Given the description of an element on the screen output the (x, y) to click on. 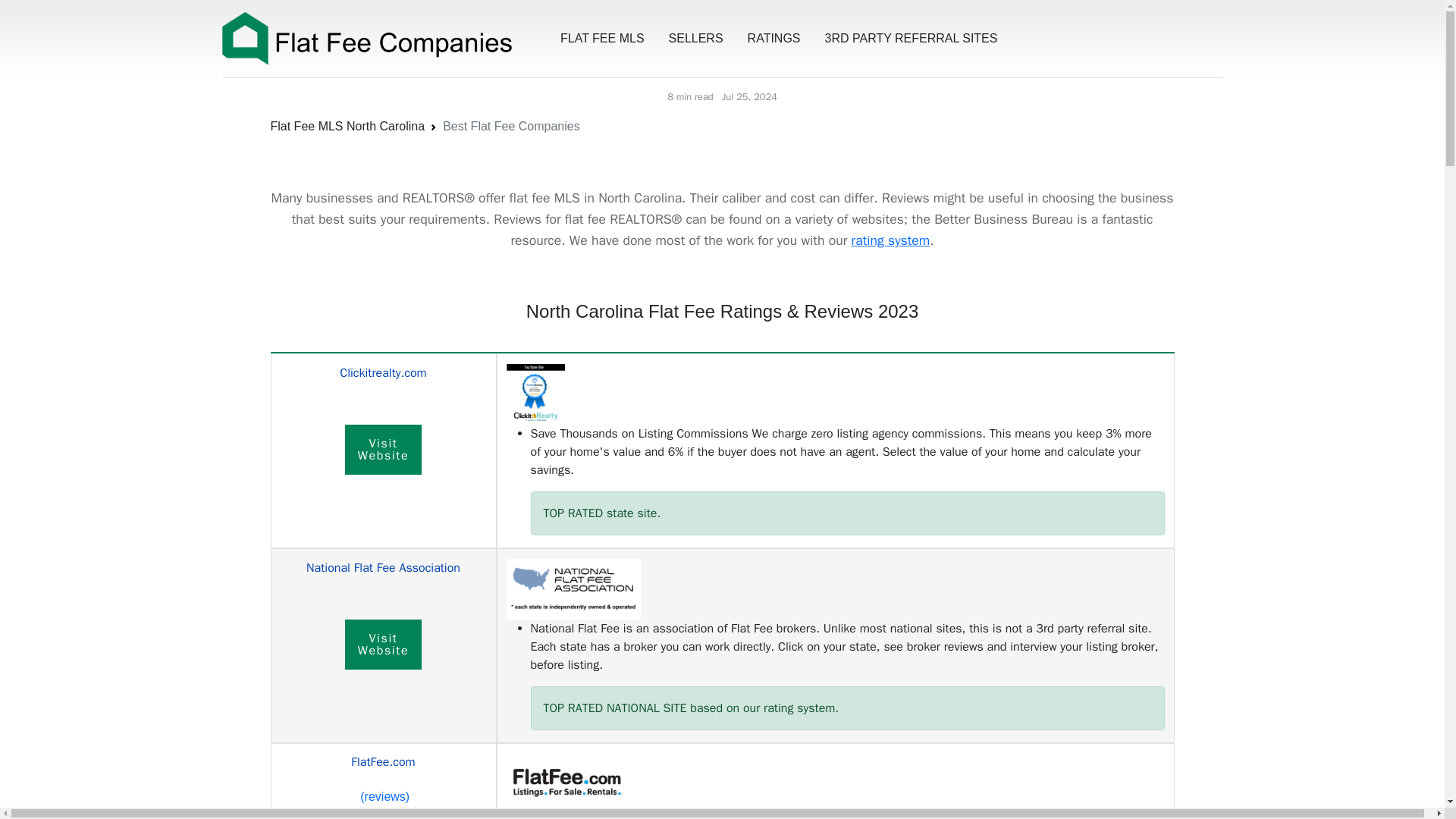
FLAT FEE MLS (602, 38)
Clickitrealty.com (382, 372)
FlatFee.com (382, 761)
SELLERS (695, 38)
National Flat Fee Association (383, 450)
rating system (382, 567)
RATINGS (890, 239)
3RD PARTY REFERRAL SITES (383, 644)
